Given the description of an element on the screen output the (x, y) to click on. 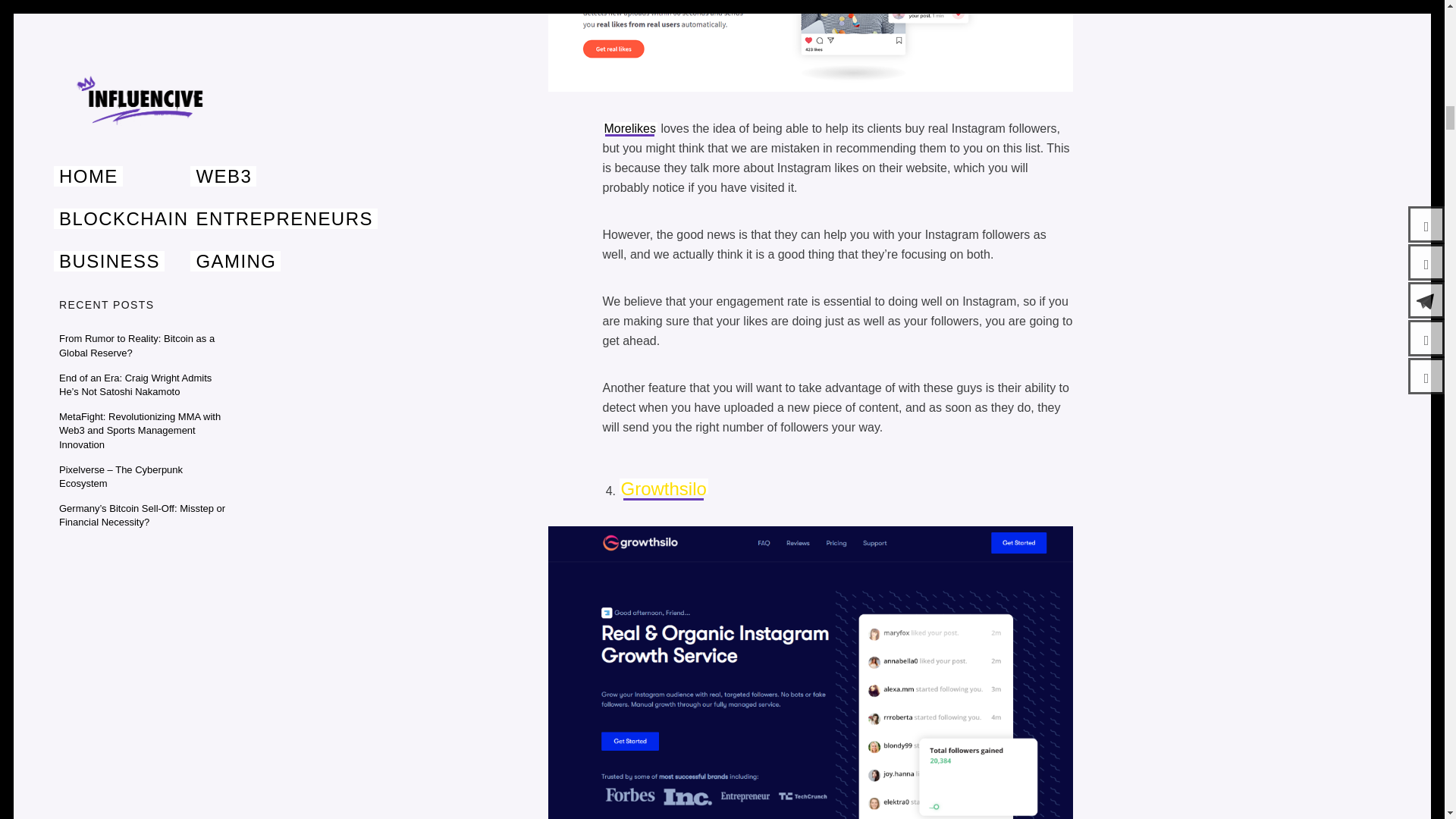
Growthsilo (662, 488)
Morelikes (629, 128)
